Given the description of an element on the screen output the (x, y) to click on. 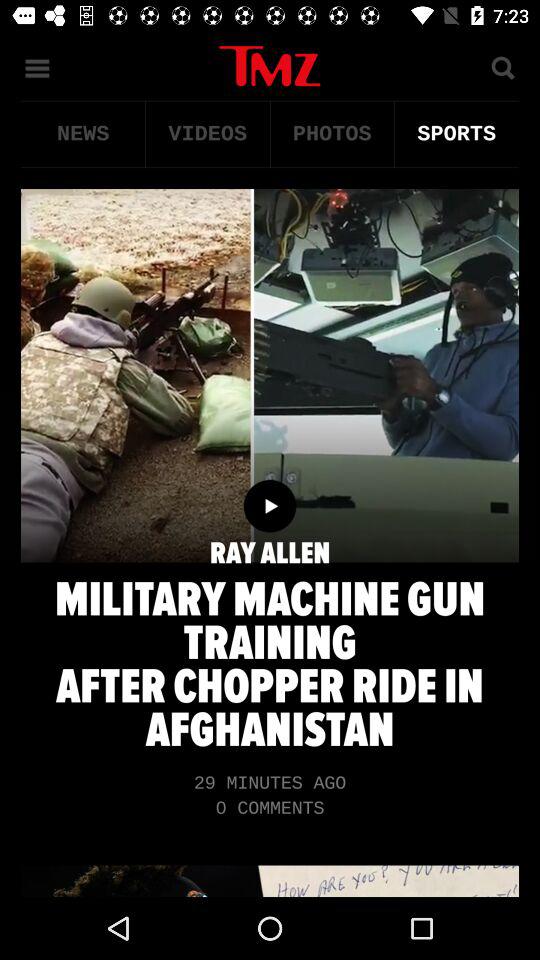
search (502, 65)
